Given the description of an element on the screen output the (x, y) to click on. 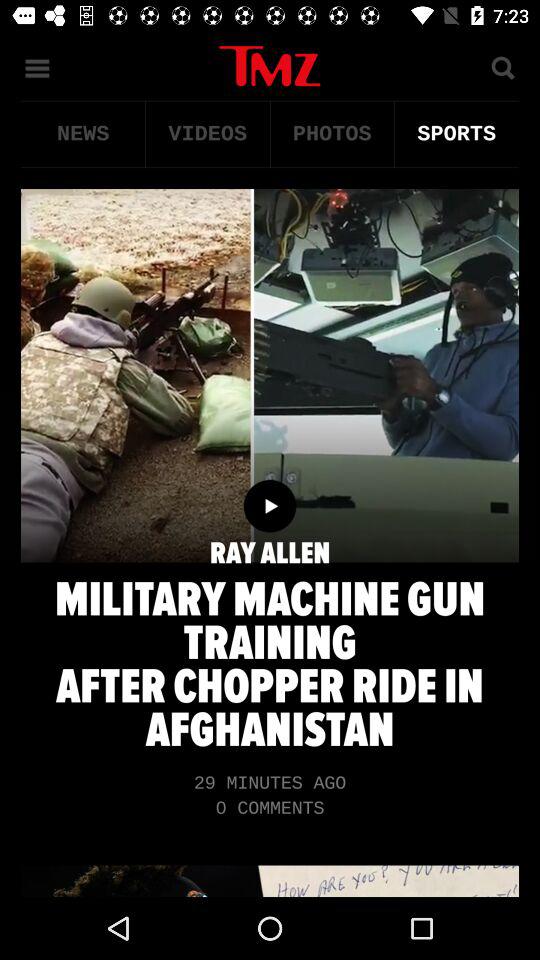
search (502, 65)
